Given the description of an element on the screen output the (x, y) to click on. 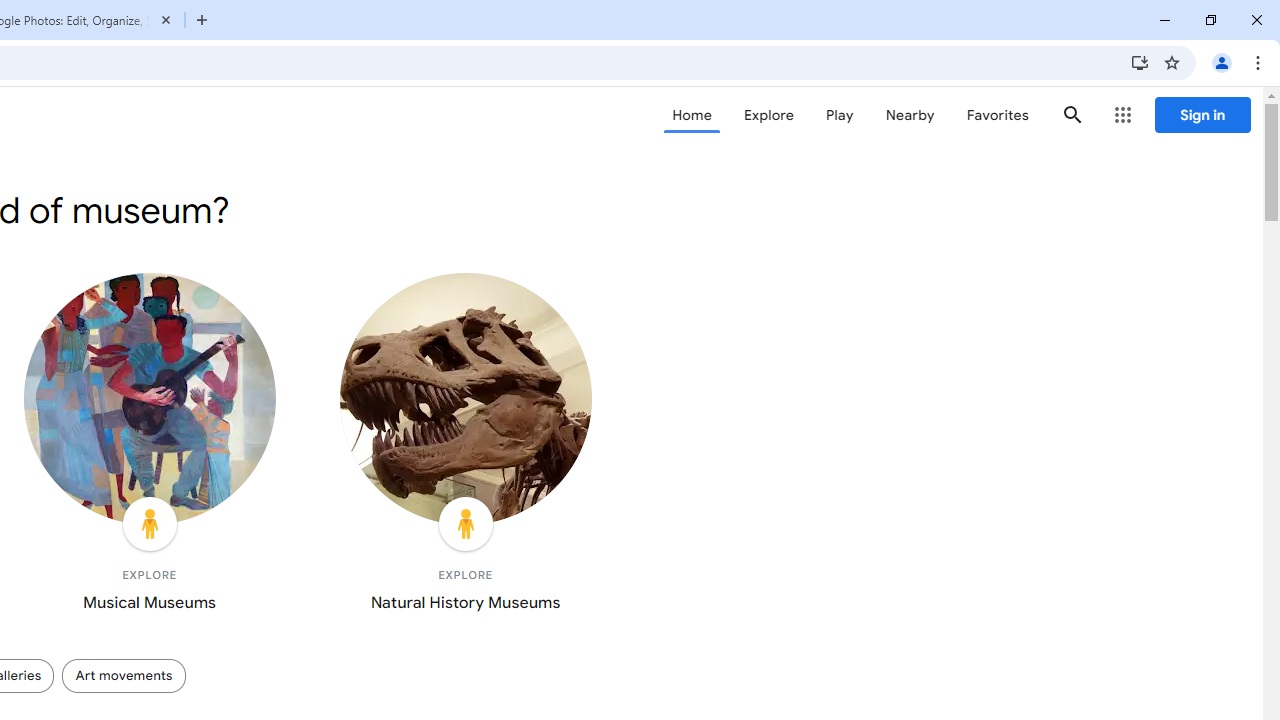
Search (1072, 114)
Art movements (123, 675)
Nearby (910, 115)
Install Google Arts & Culture (1139, 62)
EXPLORE Musical Museums (149, 447)
Home (691, 115)
